Given the description of an element on the screen output the (x, y) to click on. 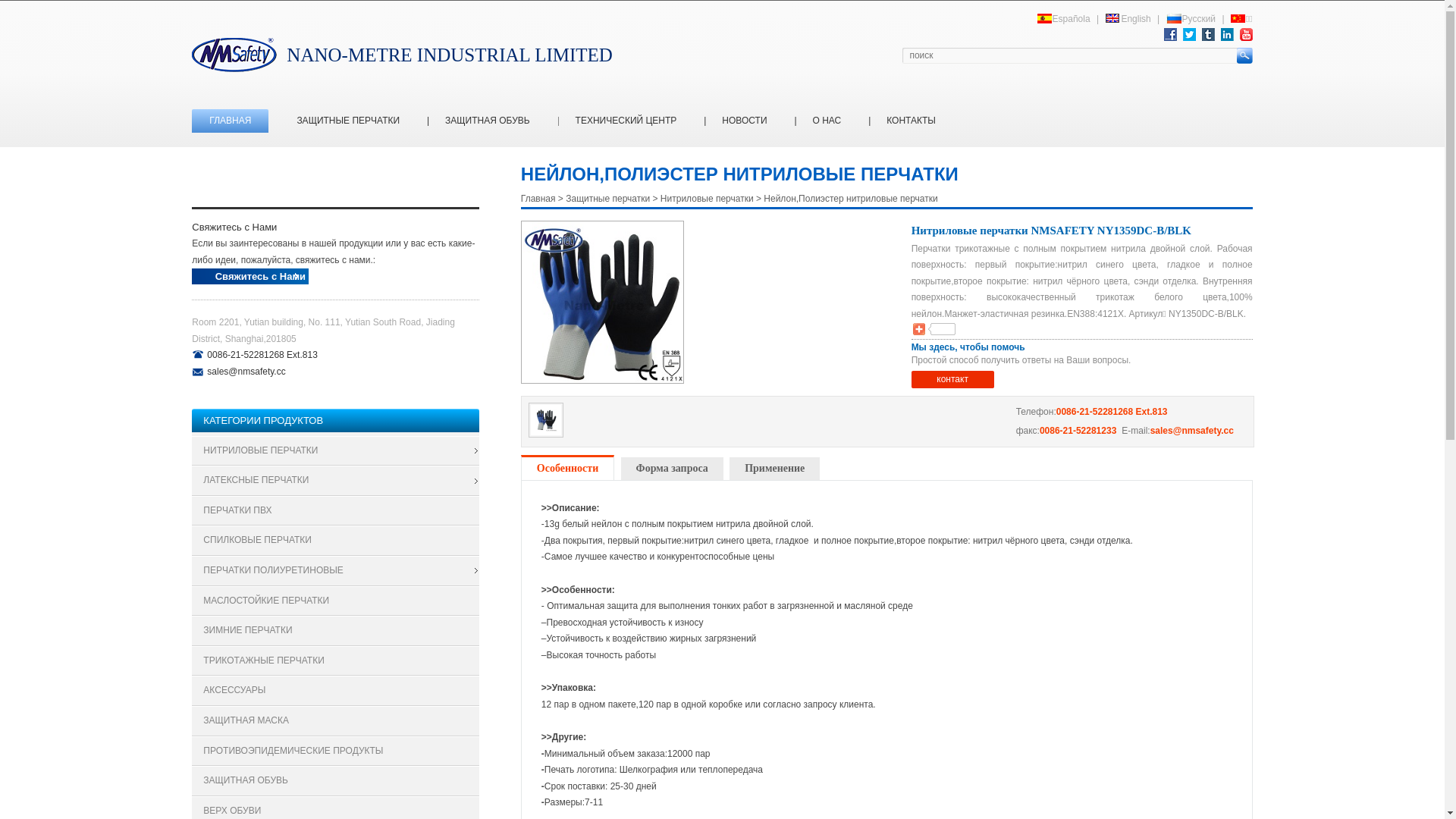
sales@nmsafety.cc Element type: text (1191, 430)
More Sharing Services Element type: text (920, 329)
NANO-METRE INDUSTRIAL LIMITED Element type: text (401, 54)
sales@nmsafety.cc Element type: text (246, 371)
English Element type: text (1129, 18)
